Given the description of an element on the screen output the (x, y) to click on. 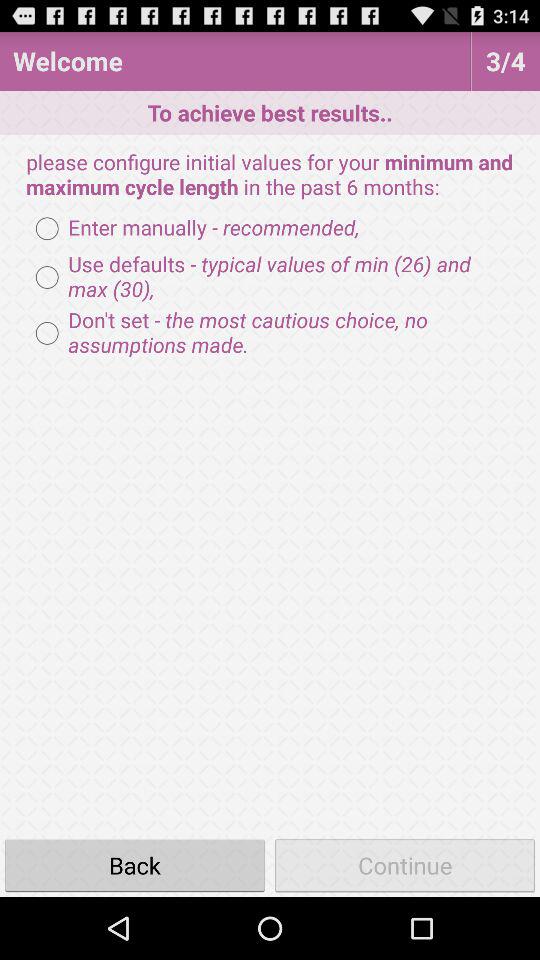
turn on use defaults typical icon (269, 277)
